Given the description of an element on the screen output the (x, y) to click on. 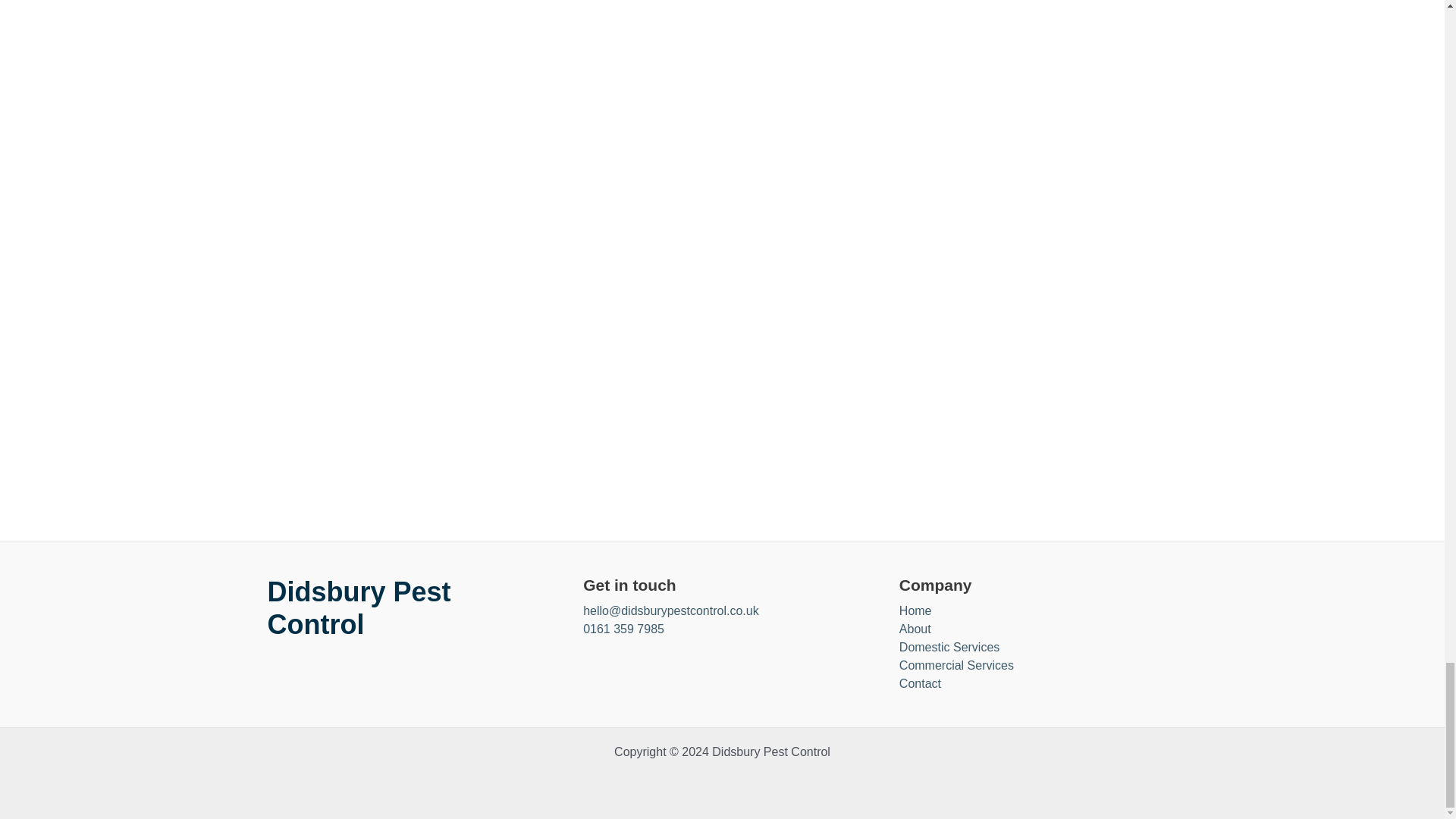
About (915, 628)
Contact (919, 683)
Home (915, 610)
Domestic Services (948, 647)
Commercial Services (956, 665)
0161 359 7985 (623, 628)
